Given the description of an element on the screen output the (x, y) to click on. 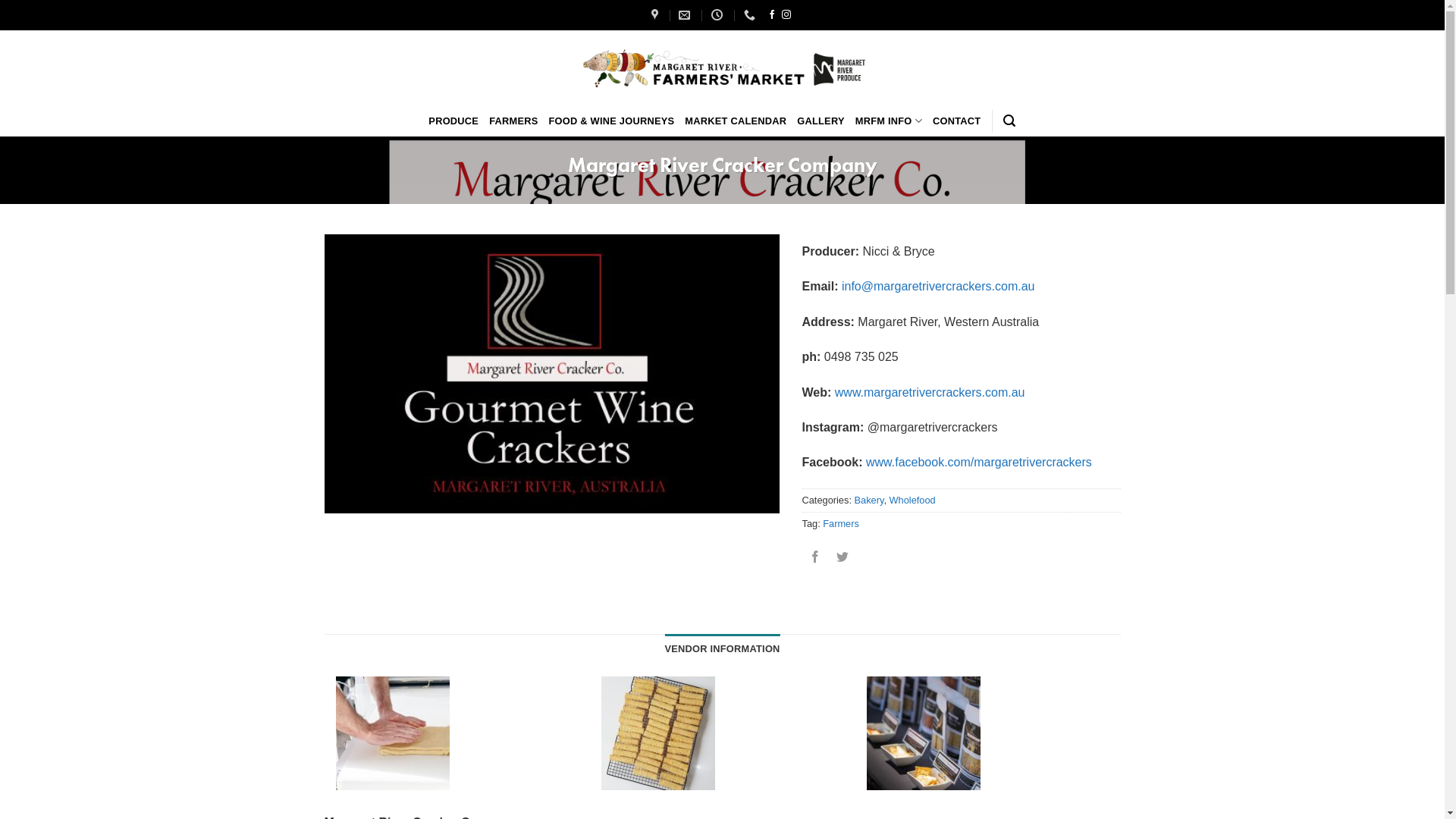
info@margaretrivercrackers.com.au Element type: text (938, 285)
Bakery Element type: text (868, 499)
Margaret River Cracker Company 1 Element type: hover (551, 373)
MRFM INFO Element type: text (888, 120)
GALLERY Element type: text (820, 120)
FARMERS Element type: text (513, 120)
0438 905 985 Element type: hover (751, 14)
Follow on Facebook Element type: hover (771, 14)
Wholefood Element type: text (912, 499)
MARKET CALENDAR Element type: text (735, 120)
VENDOR INFORMATION Element type: text (721, 648)
CONTACT Element type: text (956, 120)
PRODUCE Element type: text (453, 120)
kat@margaretriverfarmersmarket.com.au Element type: hover (685, 14)
Share on Facebook Element type: hover (815, 557)
Margaret River Cracker Company 4 Element type: hover (922, 733)
Share on Twitter Element type: hover (842, 557)
Margaret River Cracker Company 3 Element type: hover (657, 733)
Every Saturday 7:30 am - 11:30 am | Open Hours  Element type: hover (718, 14)
Farmers Element type: text (840, 523)
www.facebook.com/margaretrivercrackers Element type: text (979, 461)
www.margaretrivercrackers.com.au Element type: text (929, 391)
Margaret River Cracker Company 2 Element type: hover (391, 733)
Follow on Instagram Element type: hover (785, 14)
FOOD & WINE JOURNEYS Element type: text (611, 120)
